Given the description of an element on the screen output the (x, y) to click on. 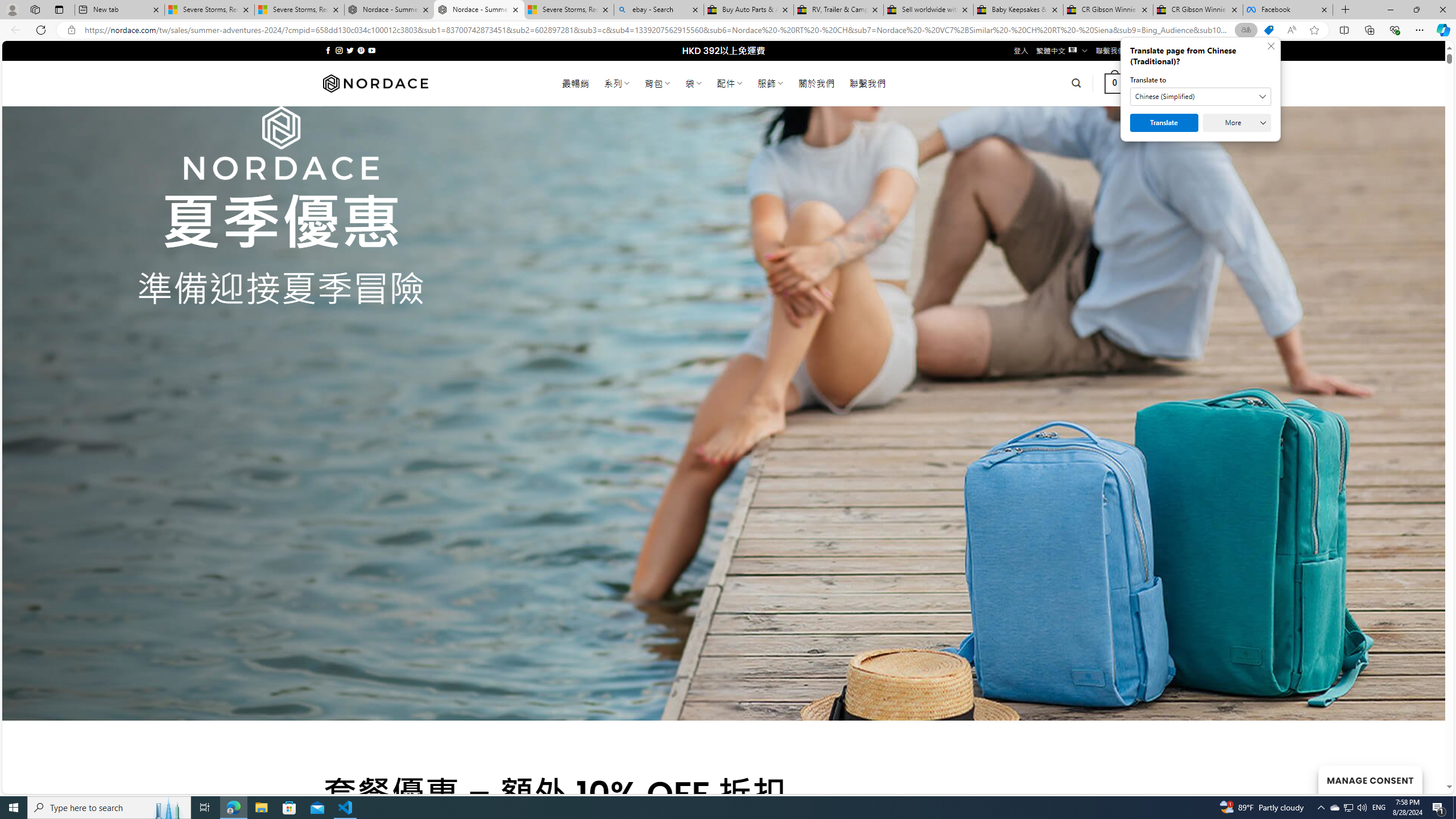
This site has coupons! Shopping in Microsoft Edge (1268, 29)
Nordace - Summer Adventures 2024 (478, 9)
